Given the description of an element on the screen output the (x, y) to click on. 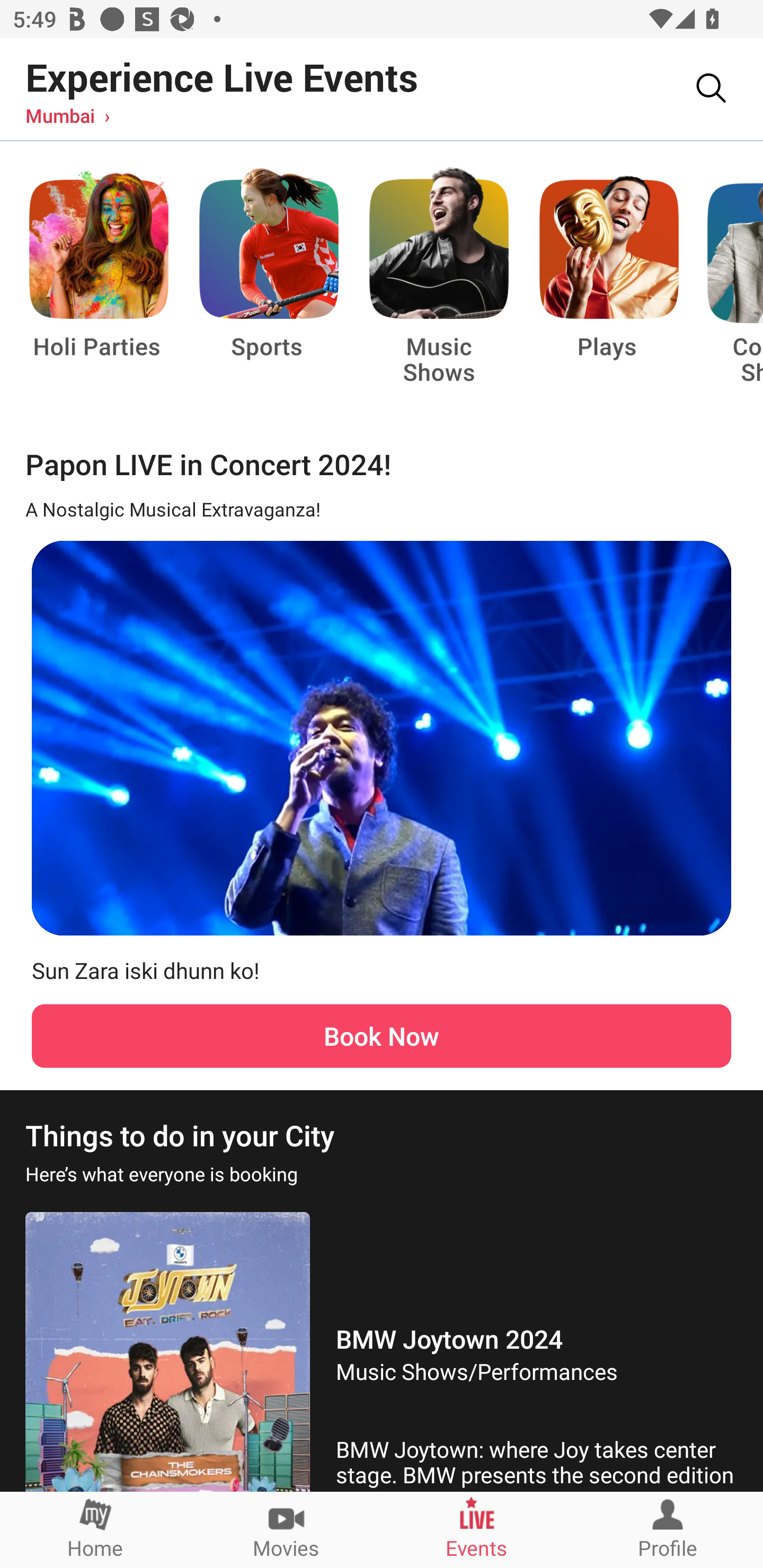
Mumbai  › (67, 114)
Play Book Now Sun Zara iski dhunn ko! (381, 801)
Book Now (381, 1036)
Home (95, 1529)
Movies (285, 1529)
Events (476, 1529)
Profile (667, 1529)
